Given the description of an element on the screen output the (x, y) to click on. 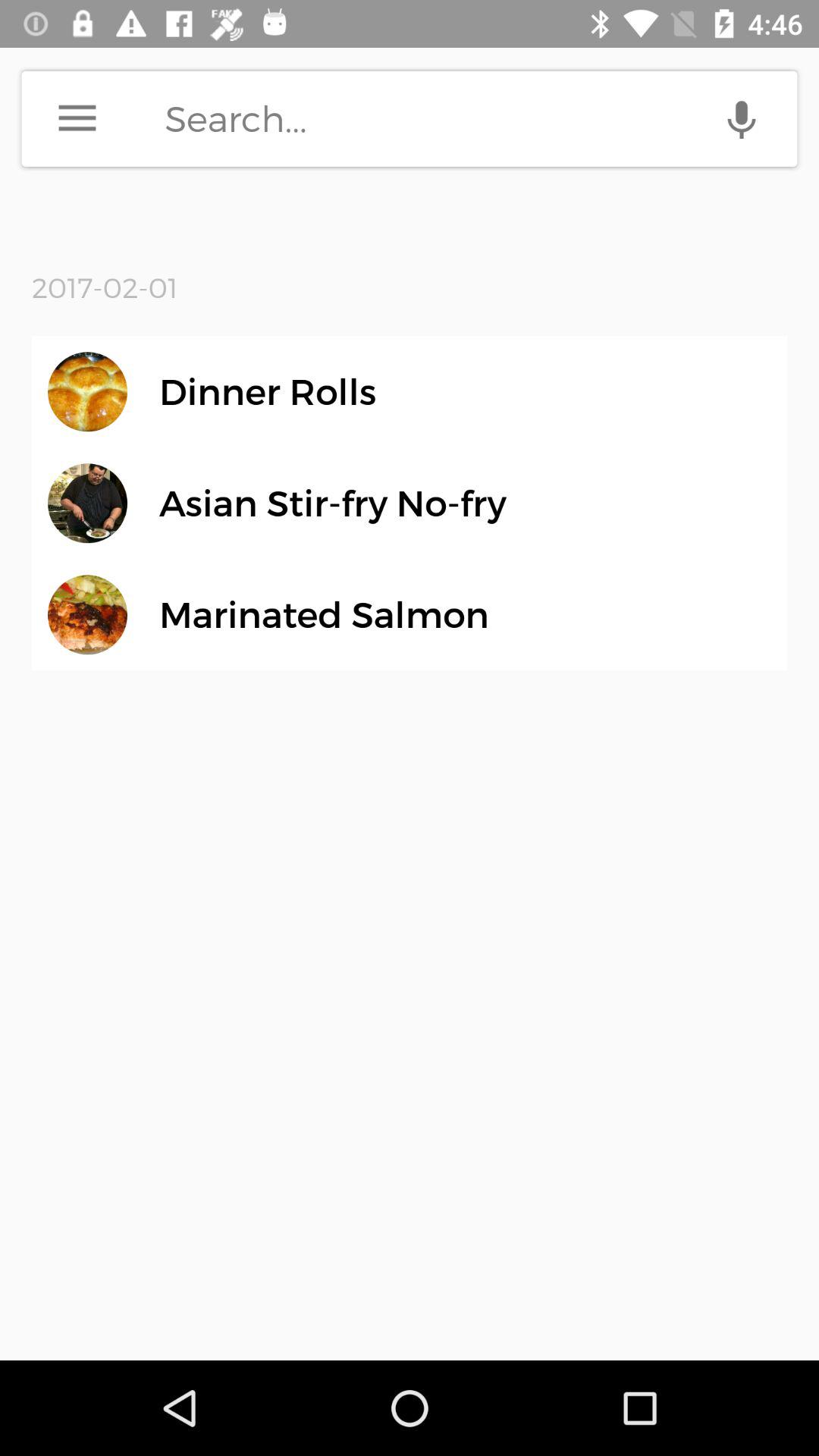
more options (77, 118)
